Given the description of an element on the screen output the (x, y) to click on. 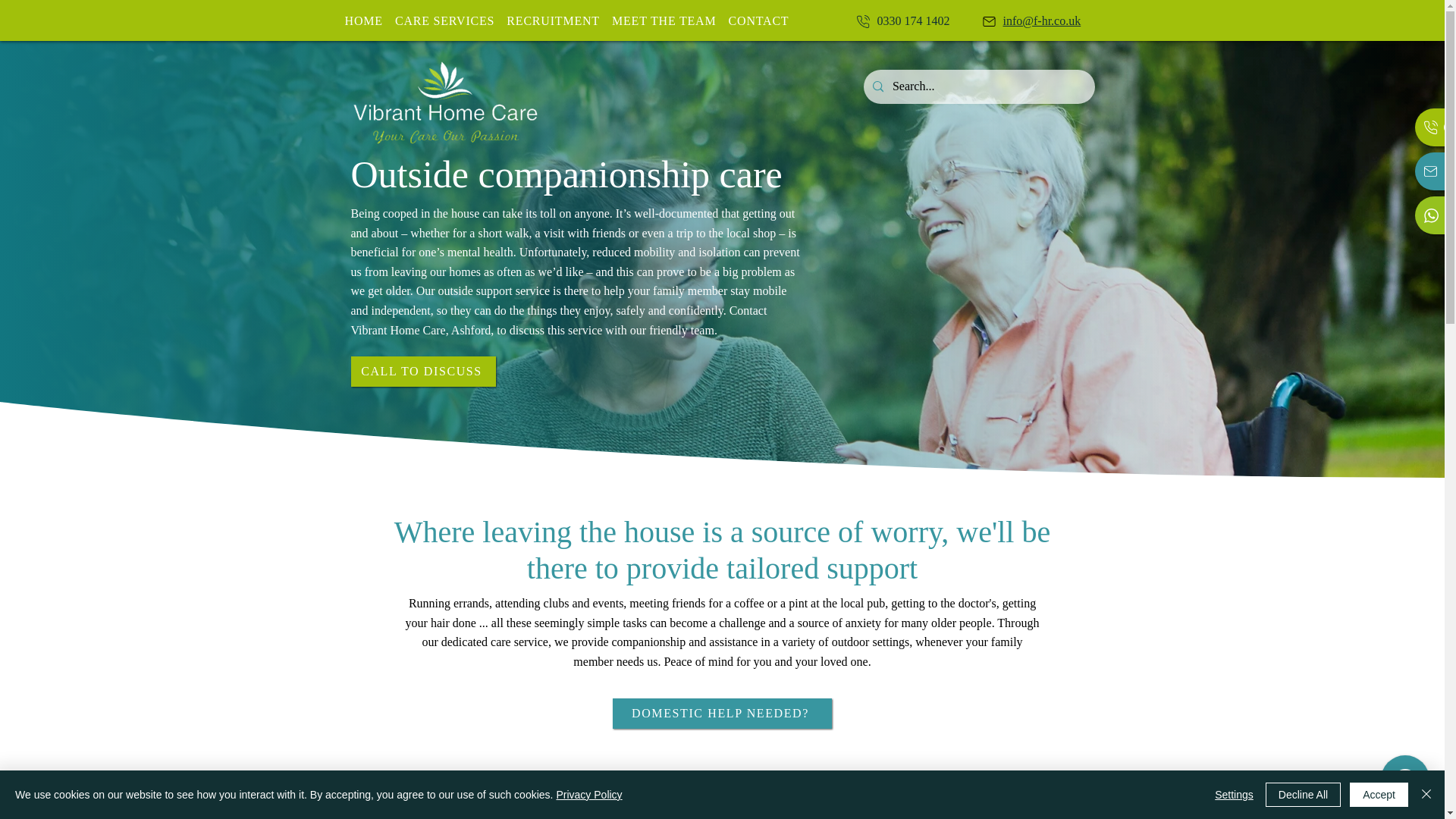
MEET THE TEAM (663, 20)
Accept (1378, 794)
HOME (362, 20)
CONTACT (758, 20)
Decline All (1302, 794)
CALL TO DISCUSS (566, 20)
Privacy Policy (422, 371)
RECRUITMENT (588, 794)
DOMESTIC HELP NEEDED? (552, 20)
